Given the description of an element on the screen output the (x, y) to click on. 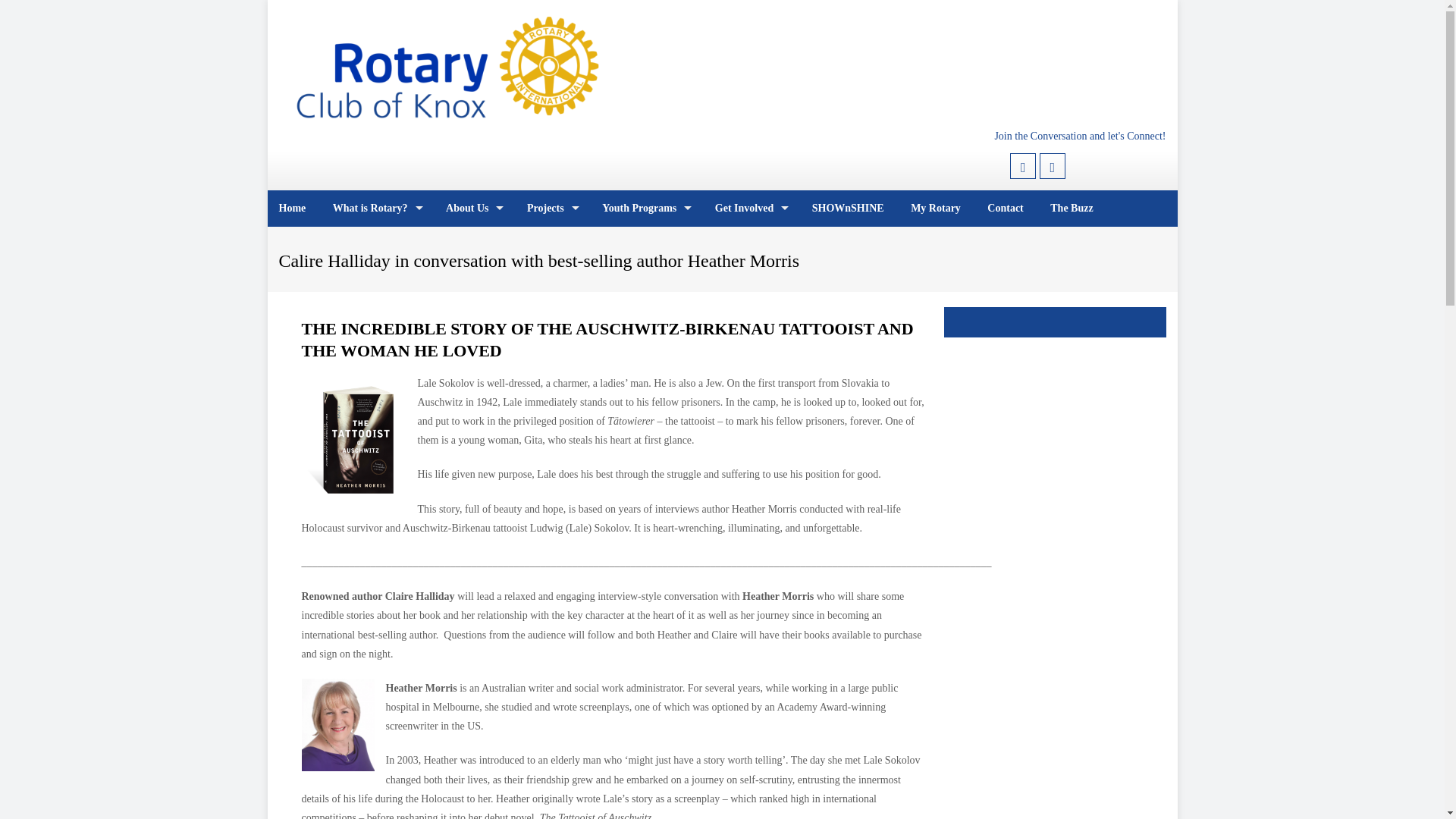
Contact (1004, 208)
SHOWnSHINE (847, 208)
The Buzz (1071, 208)
Get Involved (749, 208)
What is Rotary? (375, 208)
Youth Programs (644, 208)
Projects (550, 208)
Home (291, 208)
About Us (472, 208)
My Rotary (935, 208)
